Given the description of an element on the screen output the (x, y) to click on. 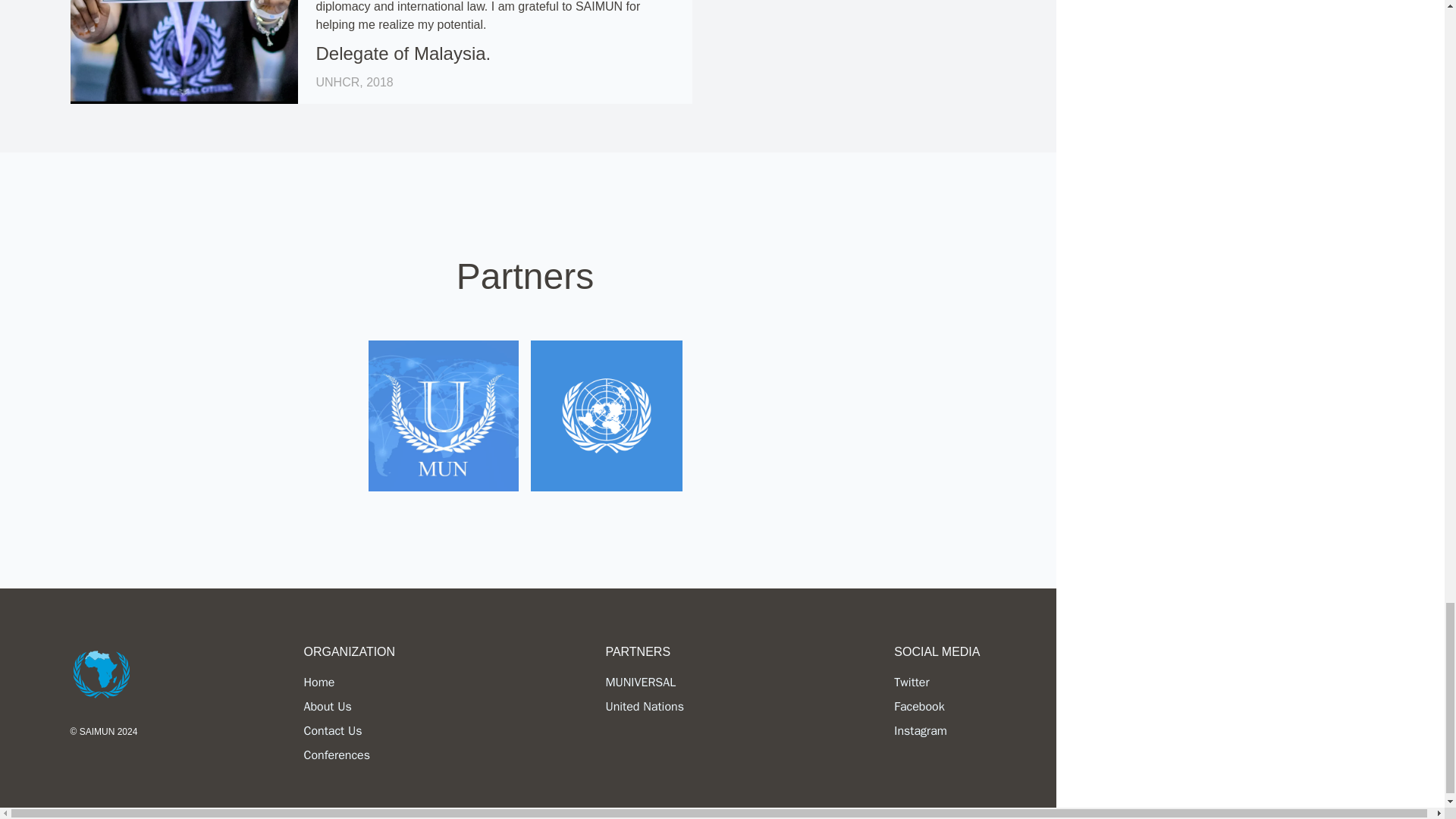
Home (318, 682)
Conferences (335, 755)
Instagram (920, 730)
Facebook (918, 706)
MUNIVERSAL (640, 682)
Contact Us (331, 730)
About Us (326, 706)
Twitter (910, 682)
United Nations (644, 706)
